Given the description of an element on the screen output the (x, y) to click on. 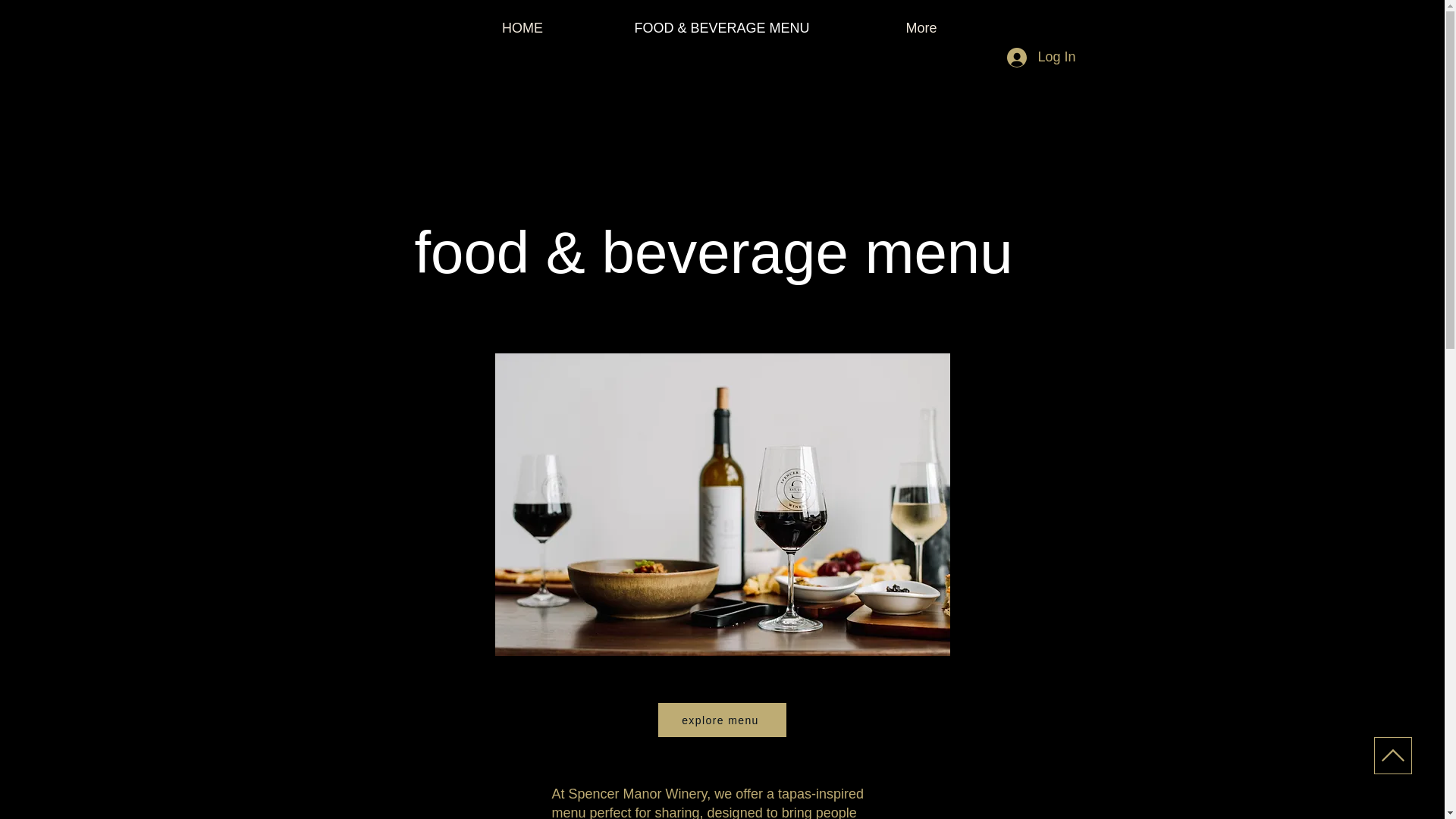
HOME (523, 27)
explore menu (722, 719)
Log In (1040, 57)
